Given the description of an element on the screen output the (x, y) to click on. 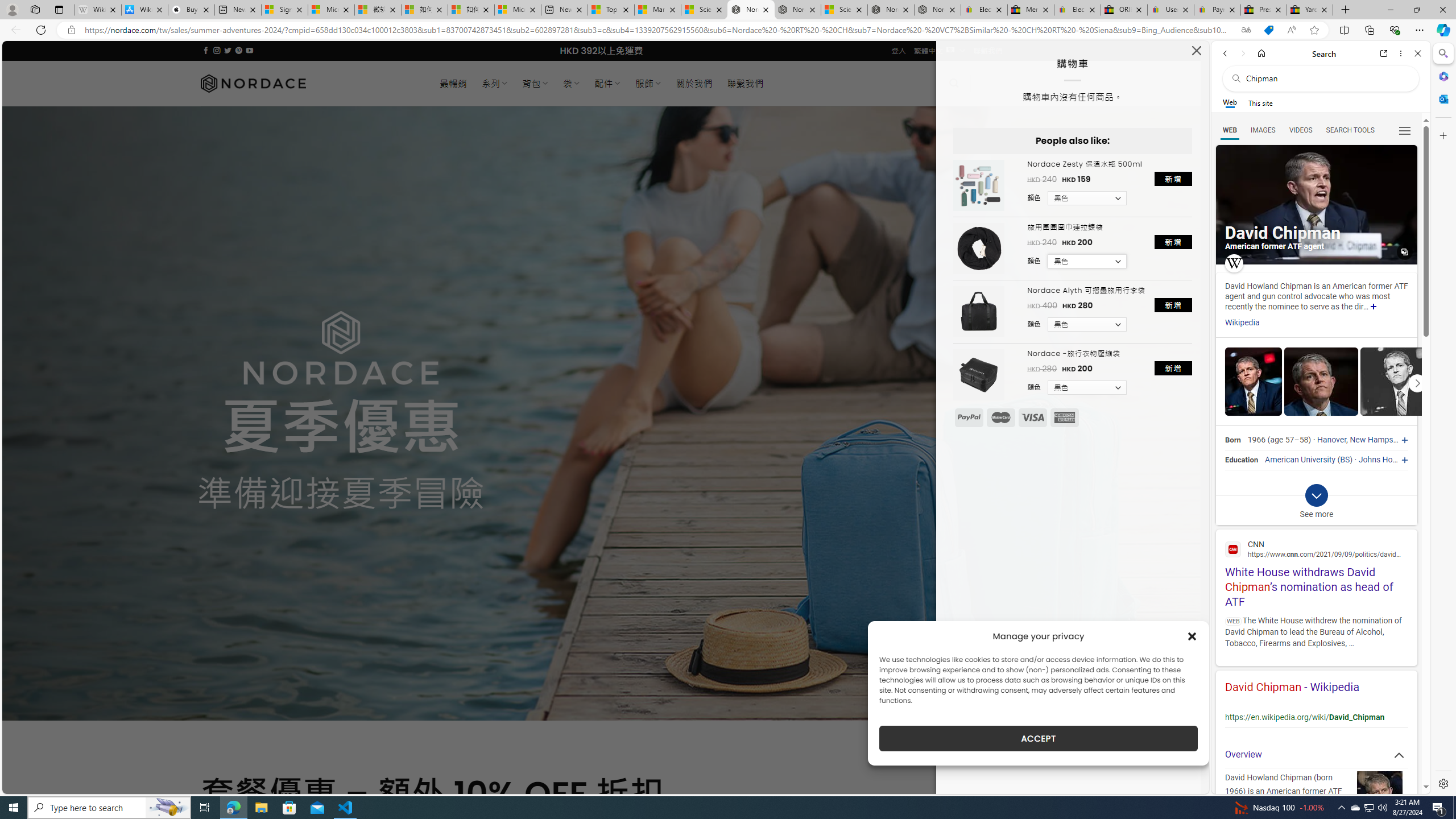
Settings (1442, 783)
ACCEPT (1038, 738)
Microsoft Services Agreement (330, 9)
CNN (1315, 548)
Payments Terms of Use | eBay.com (1216, 9)
Actions for this site (1390, 708)
All images (1315, 204)
